Given the description of an element on the screen output the (x, y) to click on. 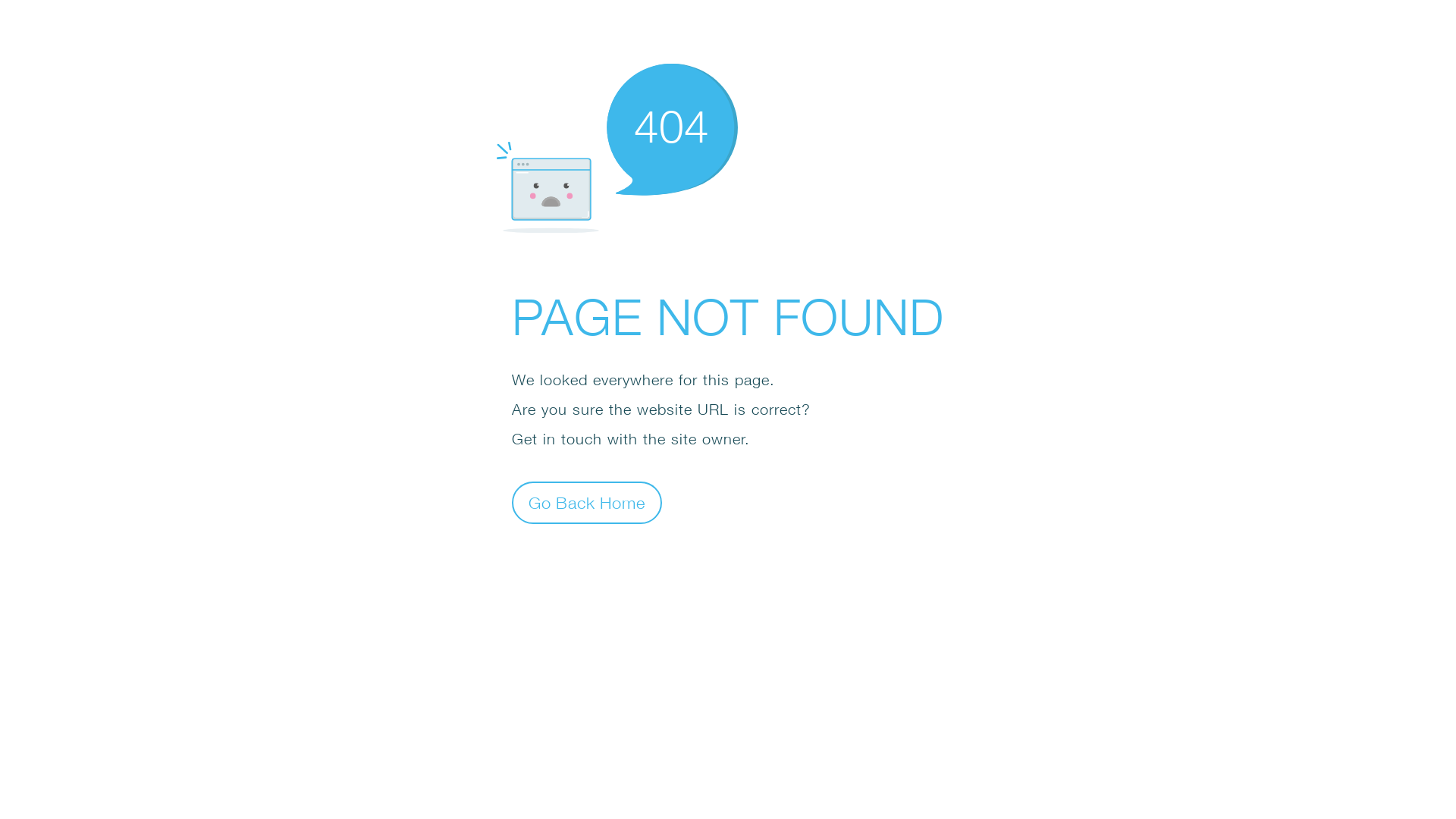
Go Back Home Element type: text (586, 502)
